Given the description of an element on the screen output the (x, y) to click on. 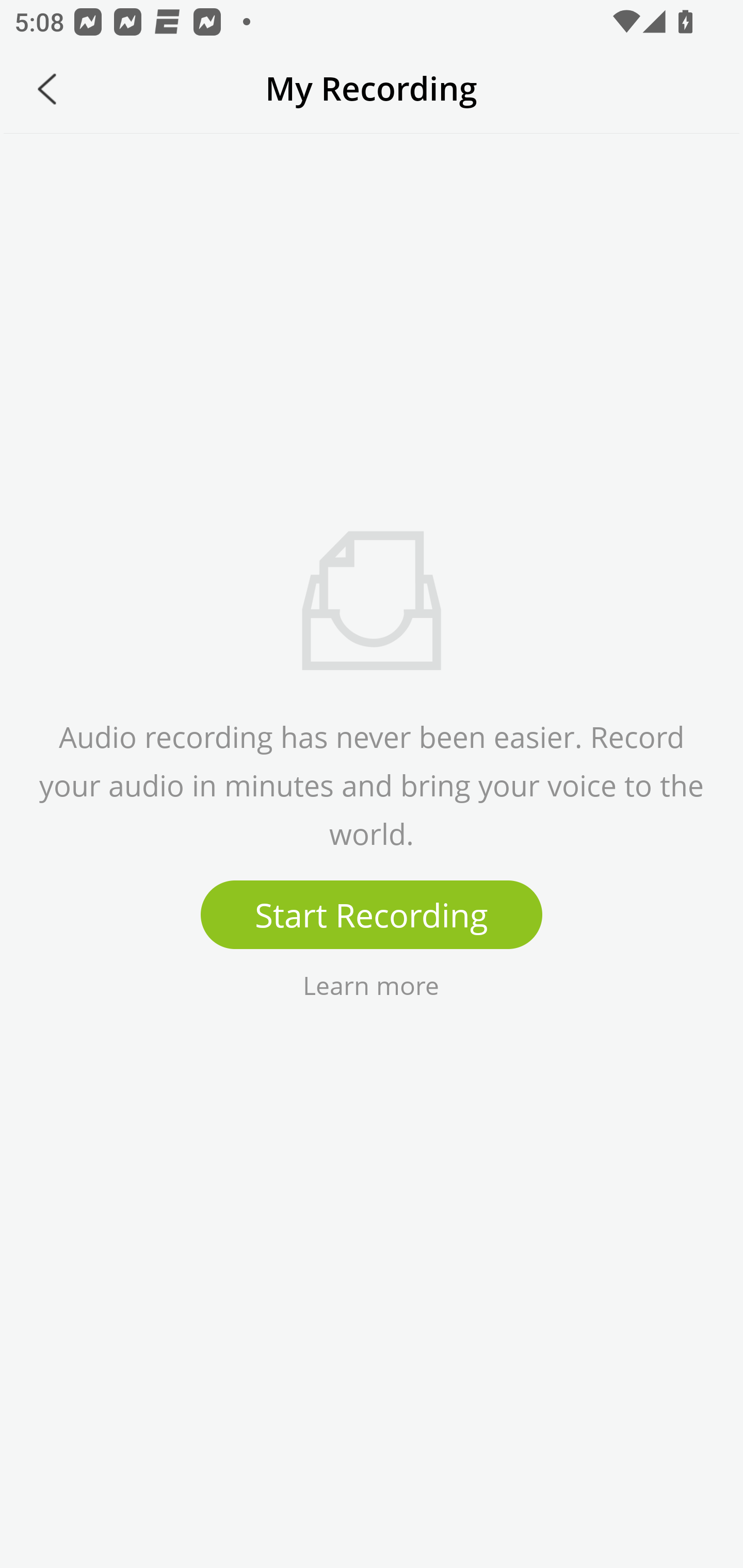
Back (46, 88)
Start Recording (371, 914)
Learn more (370, 984)
